Given the description of an element on the screen output the (x, y) to click on. 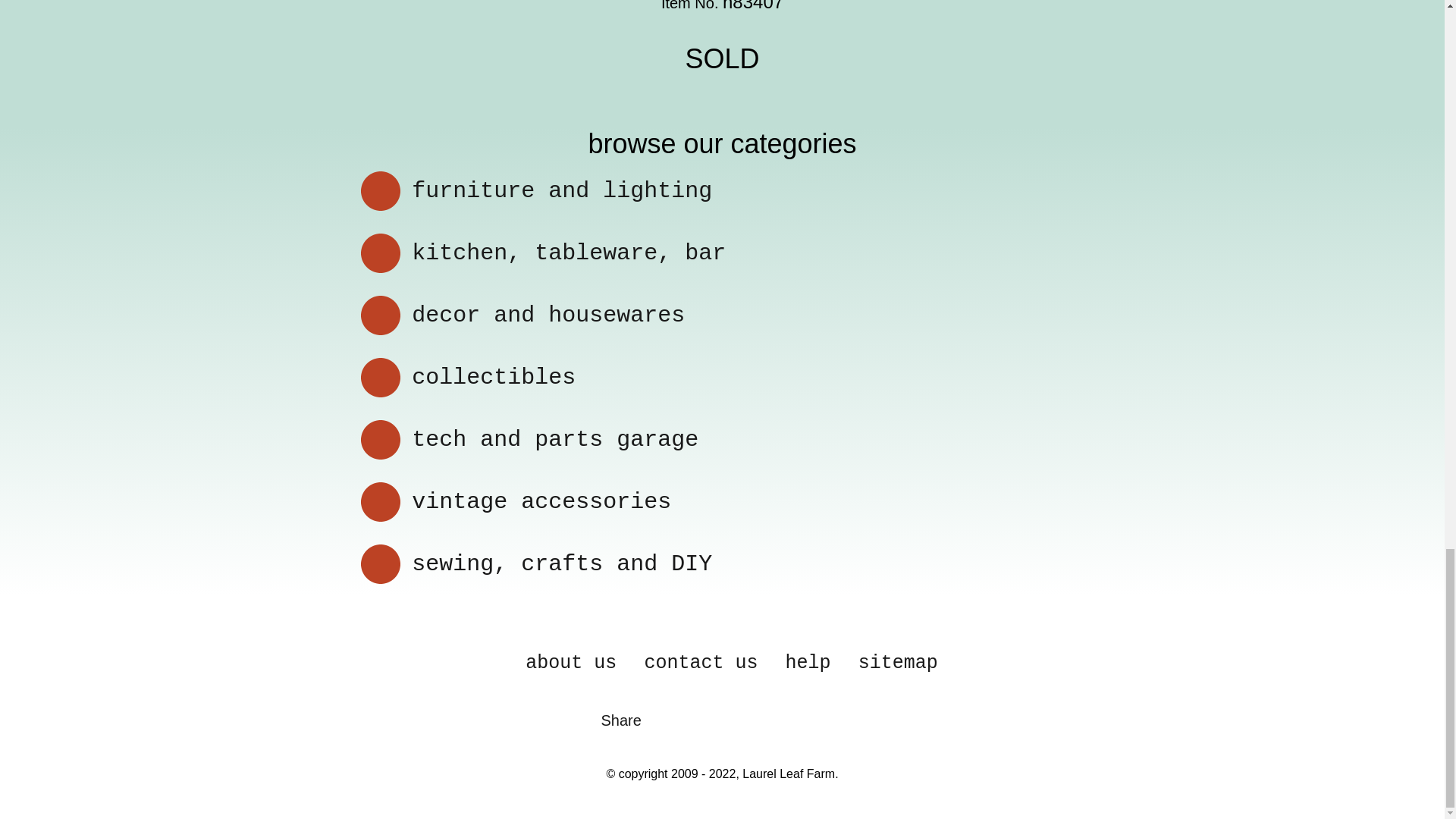
contact us (700, 662)
furniture and lighting (561, 190)
about us (570, 662)
collectibles (493, 377)
help (808, 662)
Share (619, 719)
sitemap (898, 662)
decor and housewares (548, 315)
tech and parts garage (555, 439)
vintage accessories (541, 501)
sewing, crafts and DIY (561, 564)
kitchen, tableware, bar (568, 253)
